Given the description of an element on the screen output the (x, y) to click on. 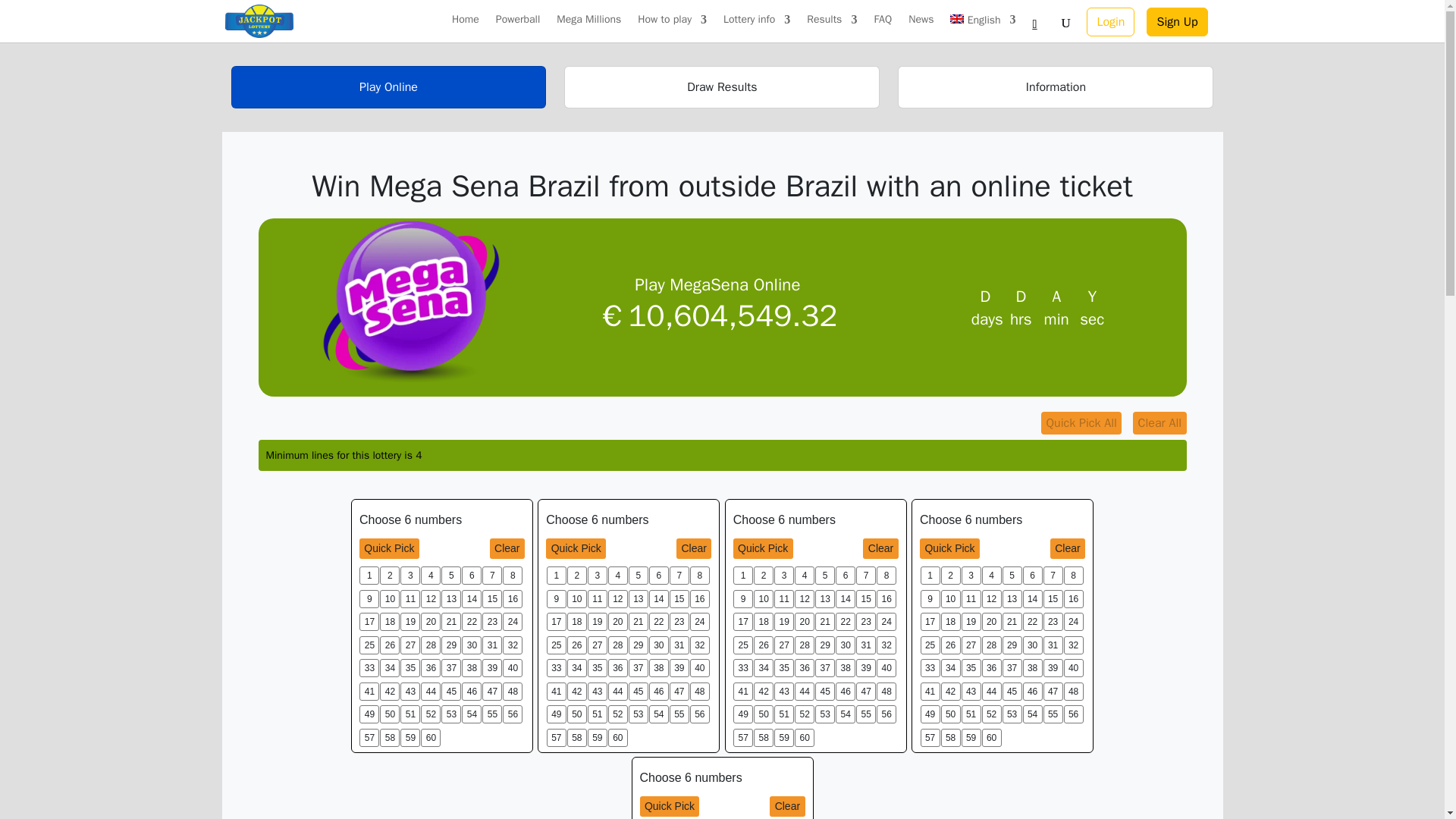
How to play (671, 27)
English (982, 28)
Home (465, 27)
Mega Millions (588, 27)
Lottery info (756, 27)
Powerball (518, 27)
